Given the description of an element on the screen output the (x, y) to click on. 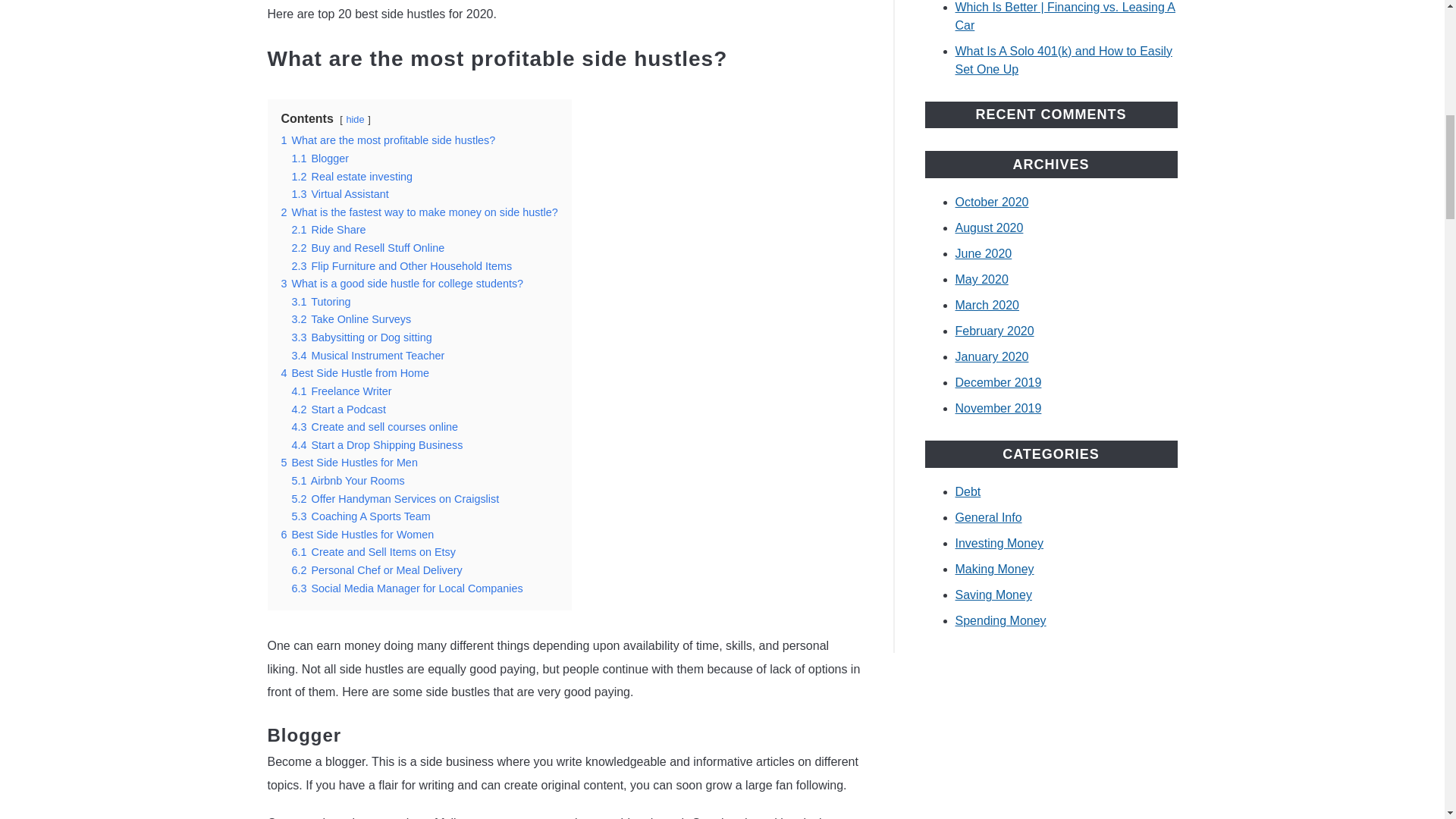
6 Best Side Hustles for Women (357, 534)
5 Best Side Hustles for Men (348, 462)
1.2 Real estate investing (351, 176)
5.2 Offer Handyman Services on Craigslist (395, 499)
5.1 Airbnb Your Rooms (347, 480)
2.3 Flip Furniture and Other Household Items (401, 265)
3 What is a good side hustle for college students? (401, 283)
4.1 Freelance Writer (341, 390)
1.1 Blogger (320, 158)
4 Best Side Hustle from Home (355, 372)
1 What are the most profitable side hustles? (388, 140)
hide (355, 119)
6.2 Personal Chef or Meal Delivery (376, 570)
3.2 Take Online Surveys (350, 318)
1.3 Virtual Assistant (339, 193)
